Given the description of an element on the screen output the (x, y) to click on. 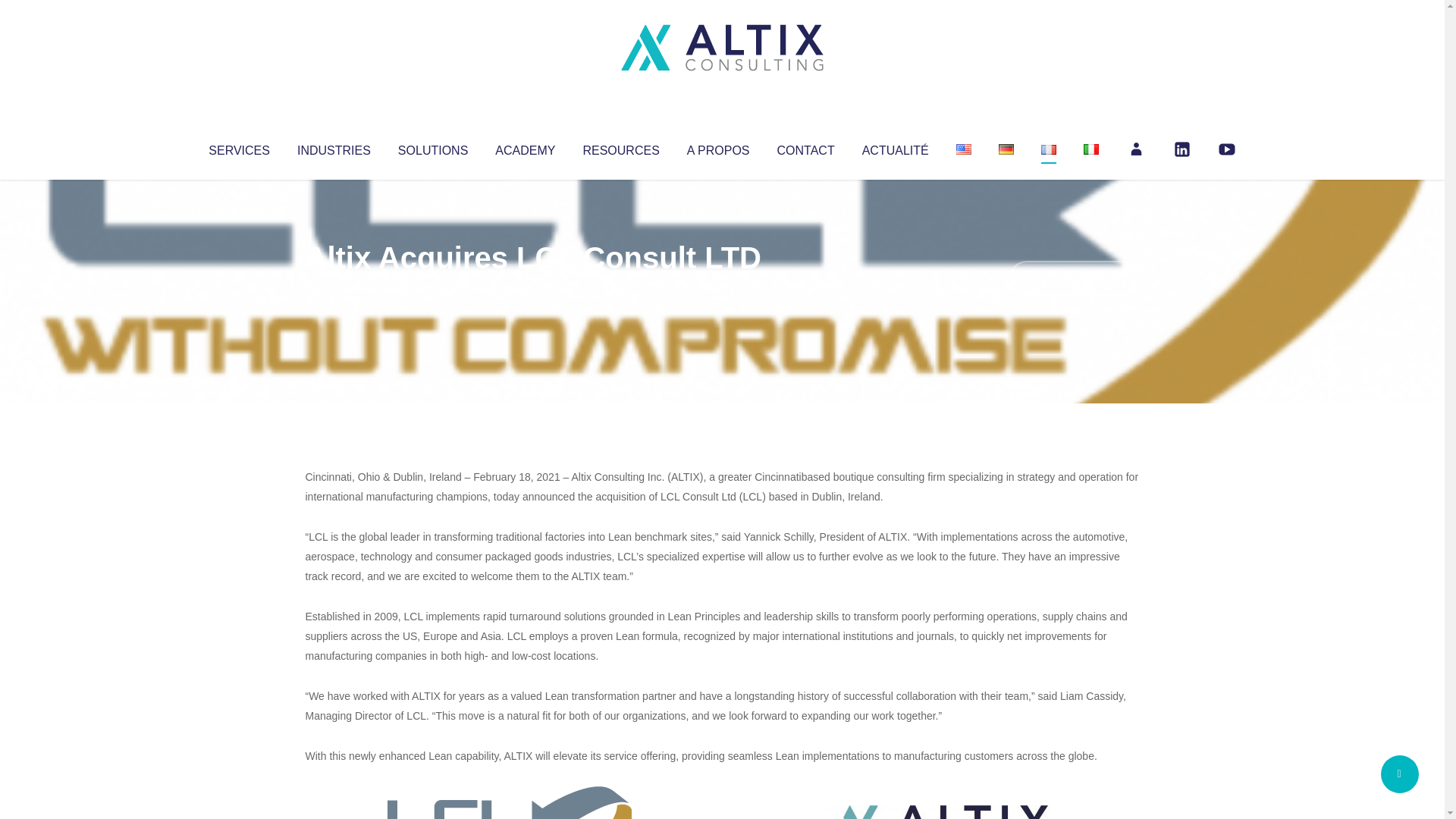
No Comments (1073, 278)
ACADEMY (524, 146)
Articles par Altix (333, 287)
Uncategorized (530, 287)
RESOURCES (620, 146)
SOLUTIONS (432, 146)
INDUSTRIES (334, 146)
SERVICES (238, 146)
A PROPOS (718, 146)
Altix (333, 287)
